Given the description of an element on the screen output the (x, y) to click on. 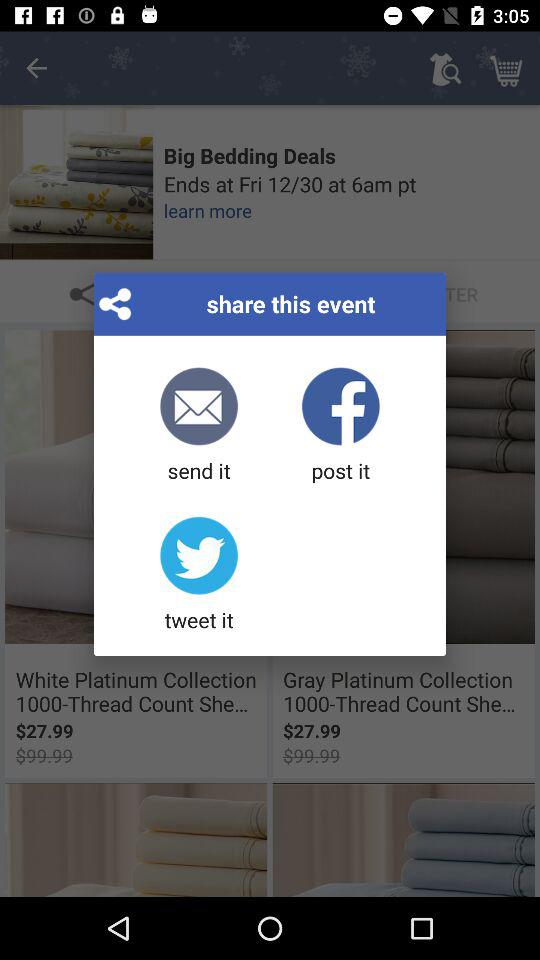
click the tweet it icon (198, 575)
